Given the description of an element on the screen output the (x, y) to click on. 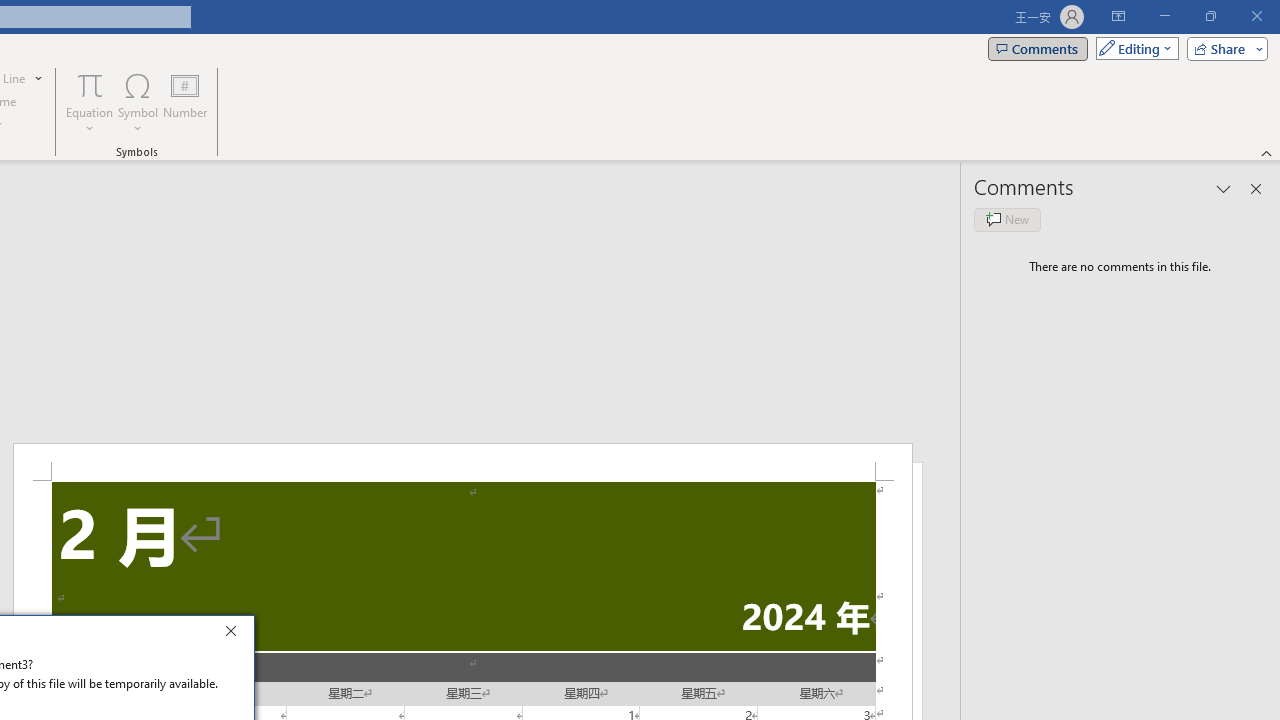
Equation (90, 102)
Equation (90, 84)
